Given the description of an element on the screen output the (x, y) to click on. 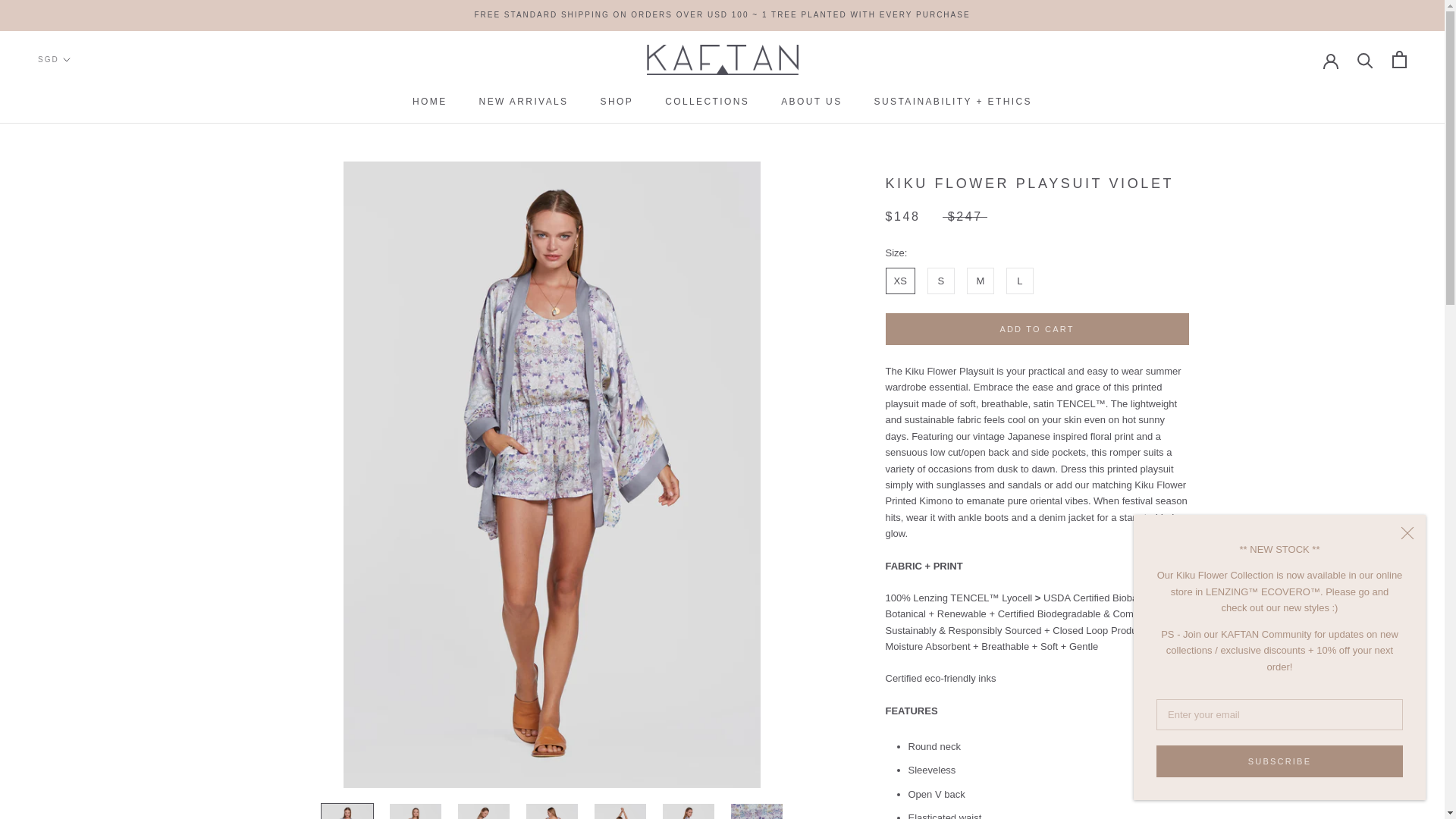
SHOP (616, 101)
Currency selector (524, 101)
SUBSCRIBE (53, 59)
